Given the description of an element on the screen output the (x, y) to click on. 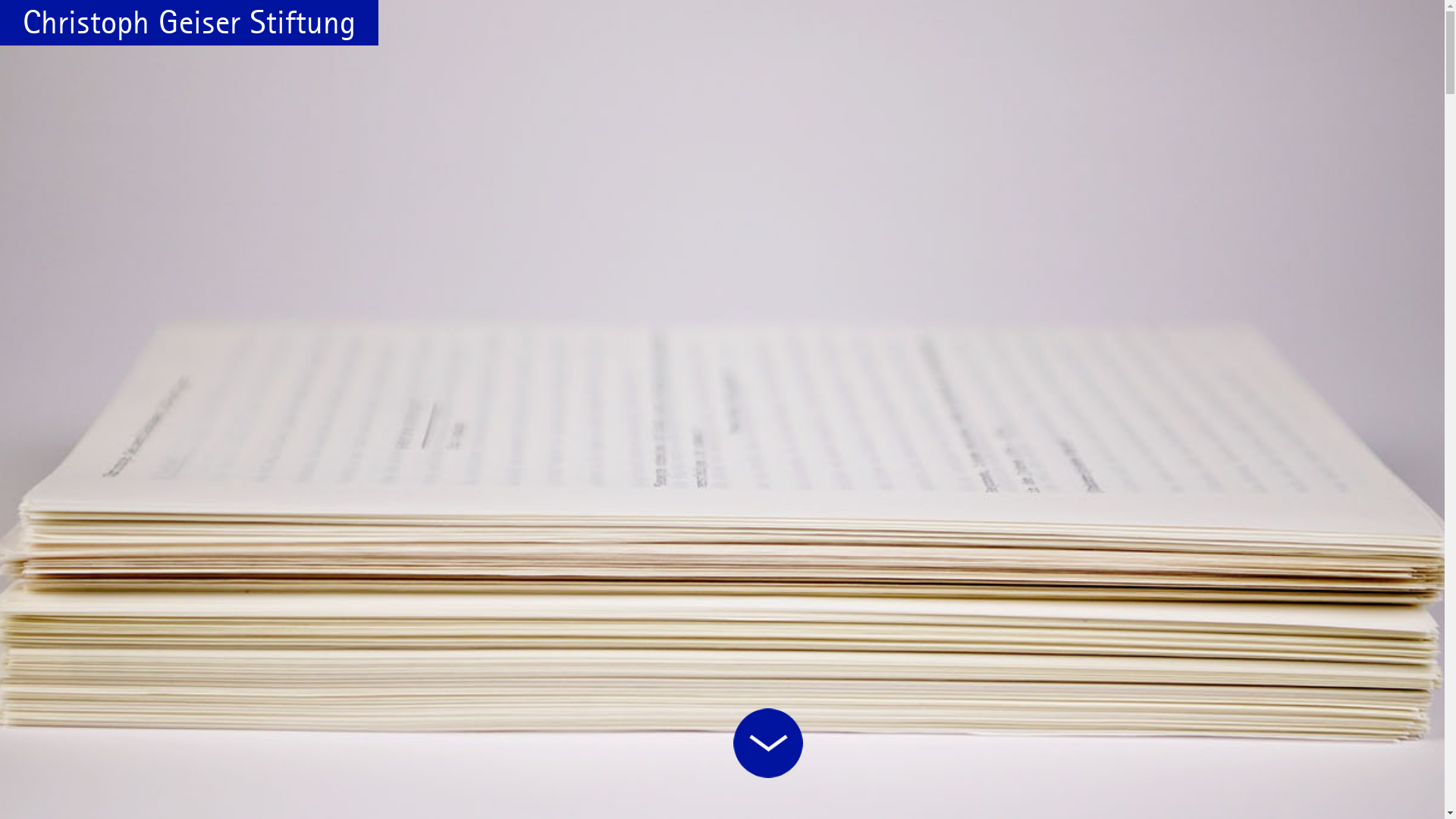
START Element type: text (768, 743)
